Given the description of an element on the screen output the (x, y) to click on. 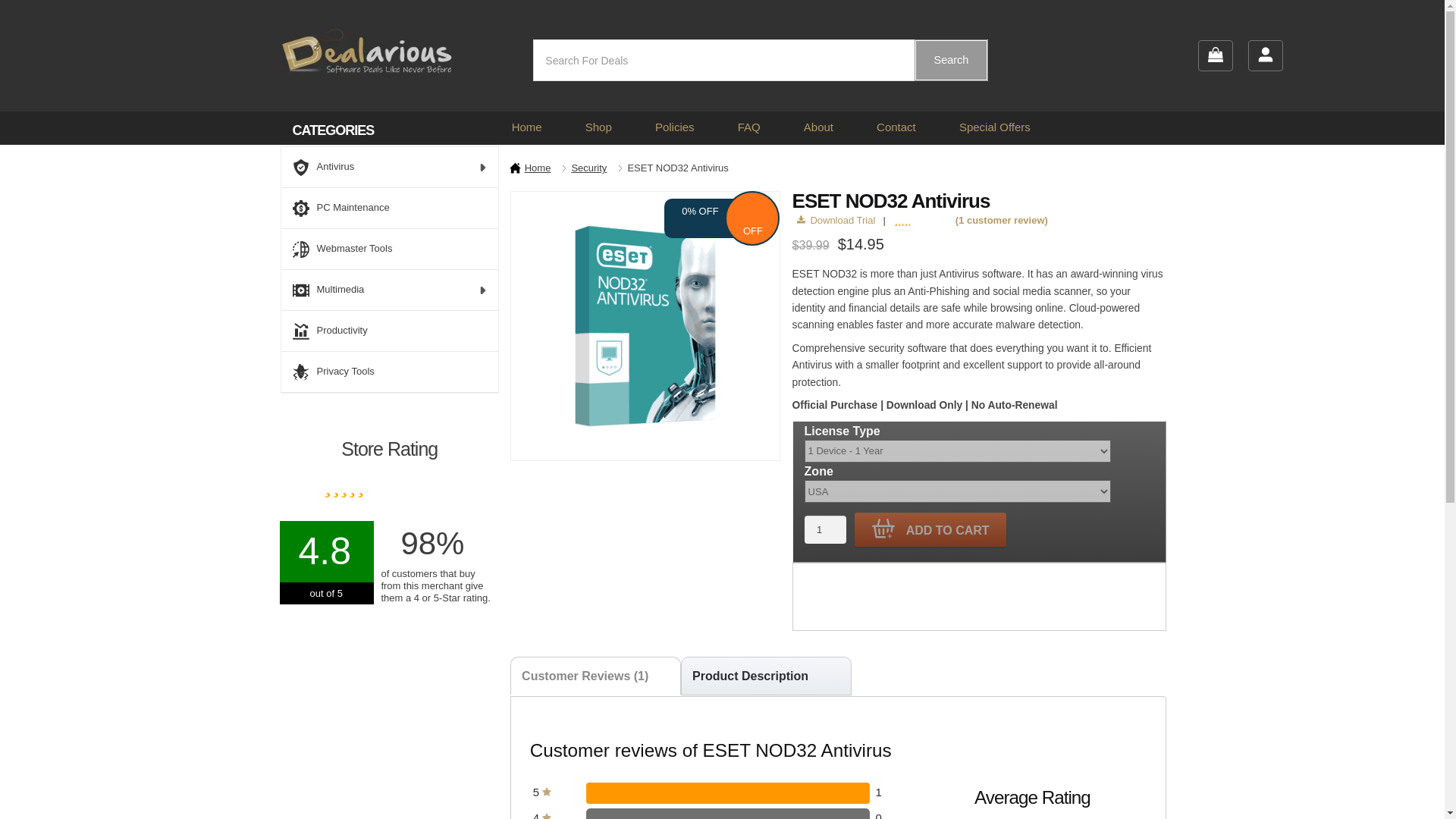
Security (588, 167)
Search (951, 60)
About (818, 127)
FAQ (748, 127)
Visit Shop (597, 127)
Special Offers (995, 127)
Contact (896, 127)
Download Trial (835, 220)
Account (1264, 55)
5 (541, 791)
